Given the description of an element on the screen output the (x, y) to click on. 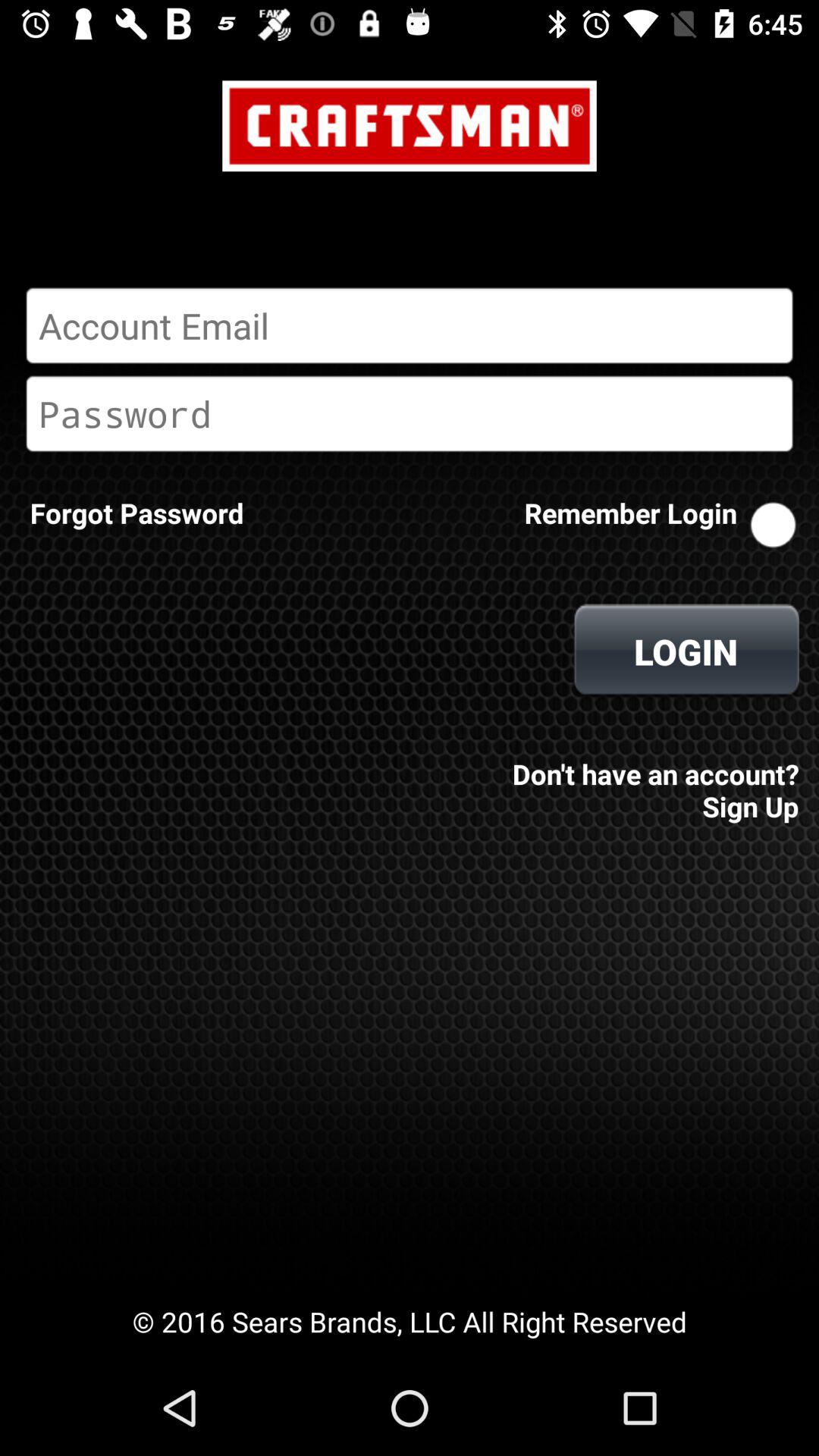
flip until don t have (651, 780)
